Given the description of an element on the screen output the (x, y) to click on. 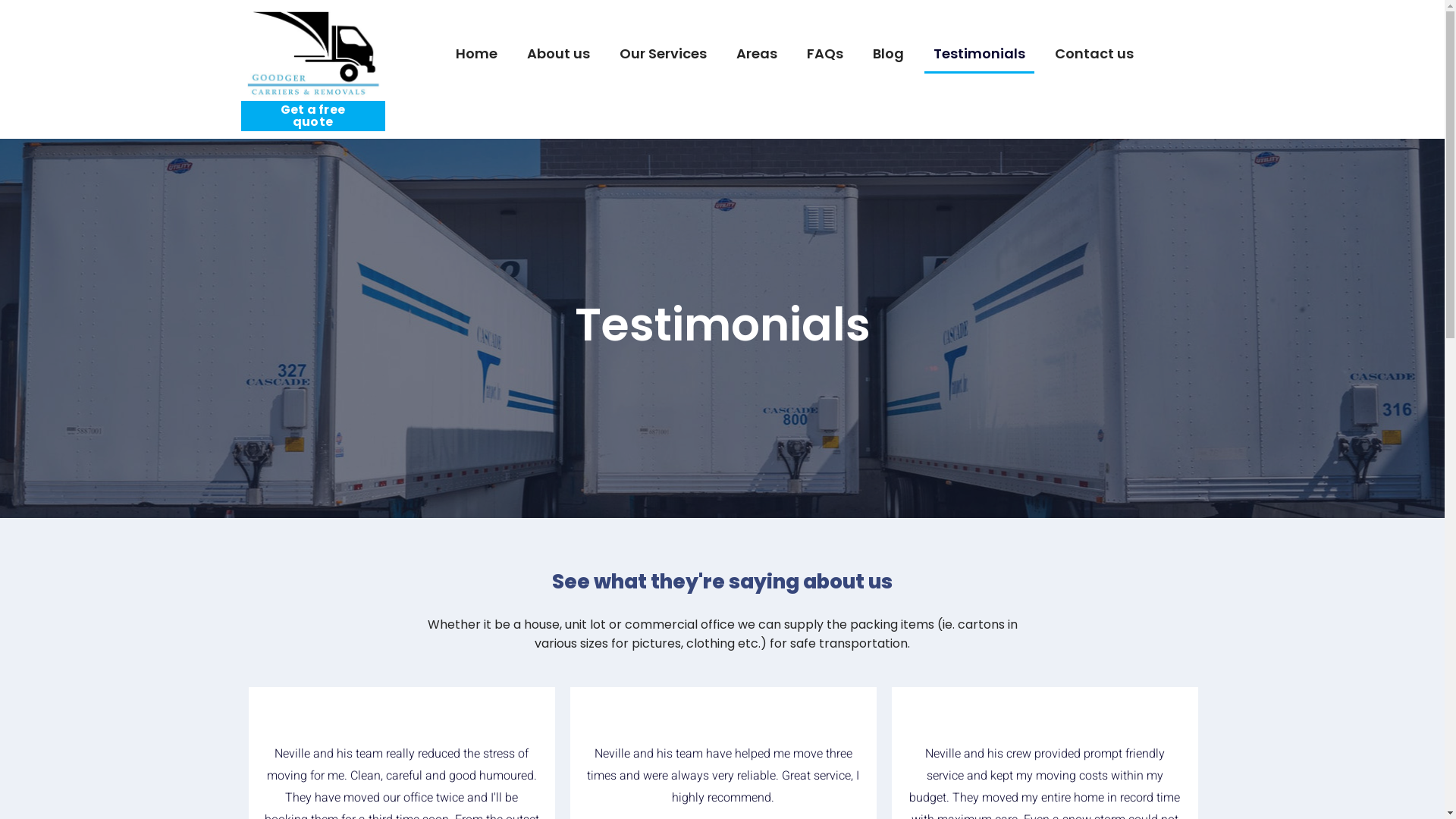
Blog Element type: text (887, 54)
About us Element type: text (557, 54)
Get a free quote Element type: text (313, 115)
Areas Element type: text (755, 54)
Our Services Element type: text (662, 54)
Home Element type: text (475, 54)
FAQs Element type: text (824, 54)
Contact us Element type: text (1093, 54)
Testimonials Element type: text (978, 54)
